Given the description of an element on the screen output the (x, y) to click on. 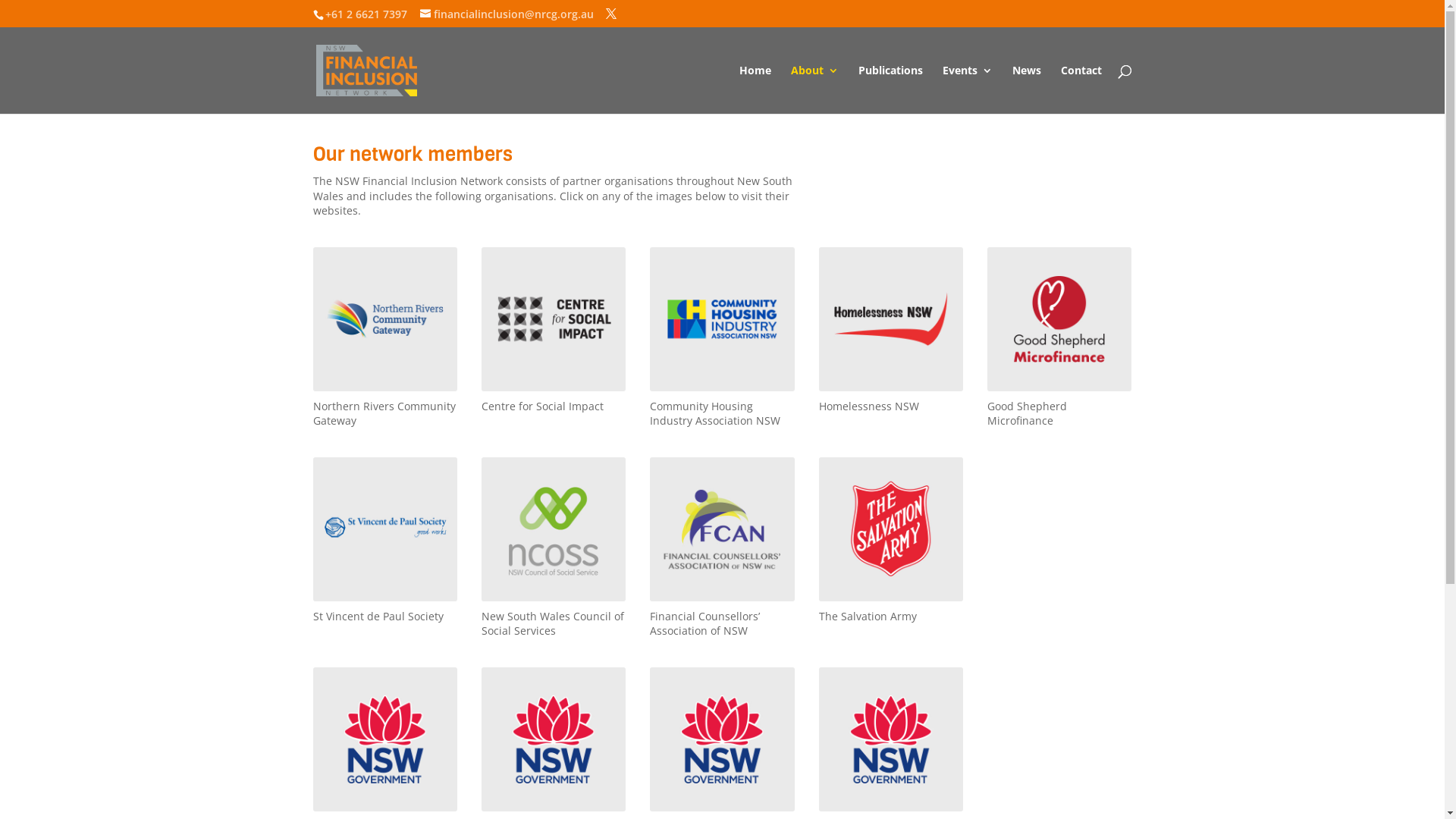
Home Element type: text (754, 89)
Publications Element type: text (890, 89)
News Element type: text (1025, 89)
About Element type: text (813, 89)
Contact Element type: text (1080, 89)
financialinclusion@nrcg.org.au Element type: text (506, 13)
Events Element type: text (966, 89)
